Given the description of an element on the screen output the (x, y) to click on. 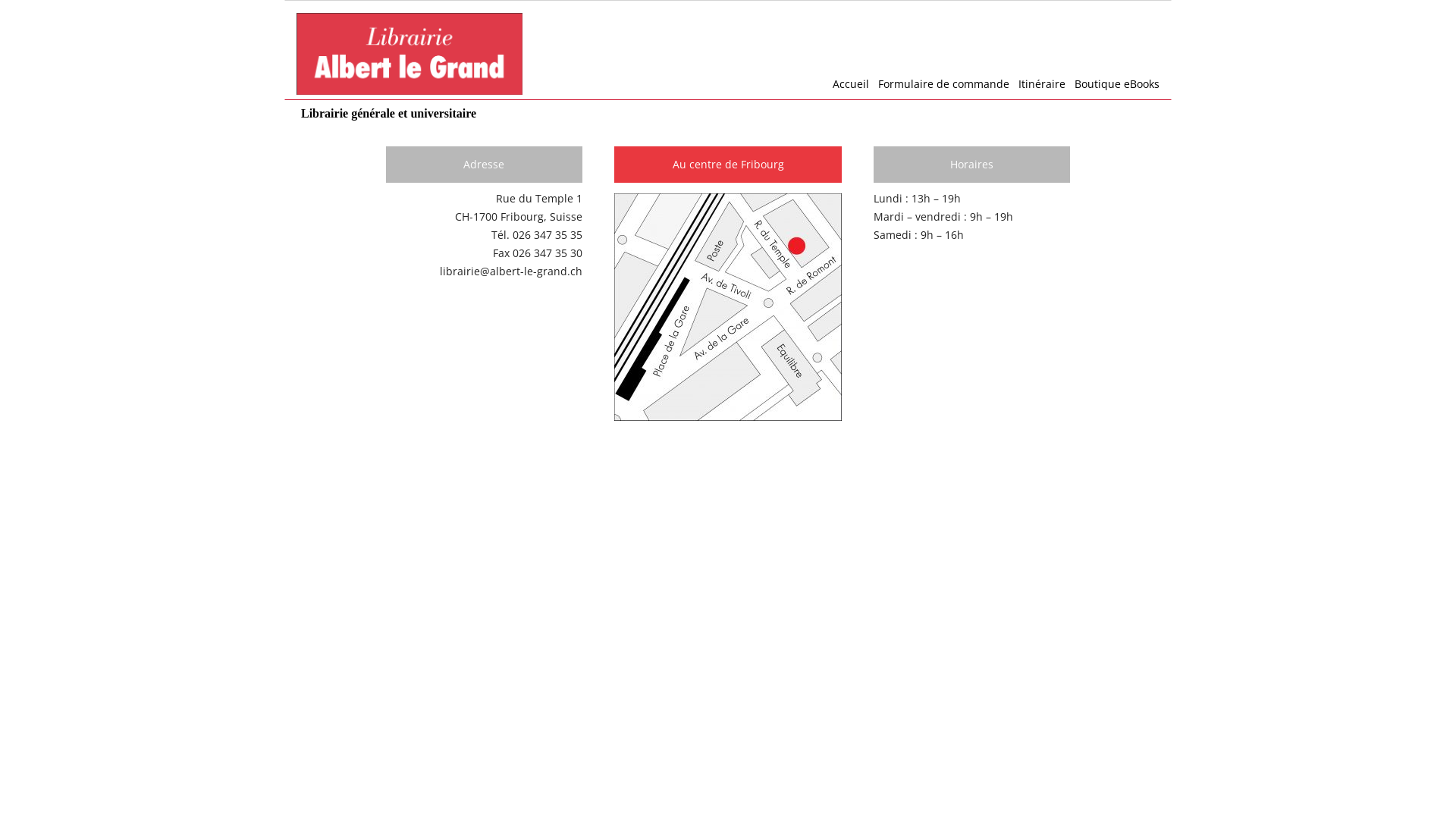
Formulaire de commande Element type: text (939, 83)
Accueil Element type: text (846, 83)
Boutique eBooks Element type: text (1112, 83)
